Given the description of an element on the screen output the (x, y) to click on. 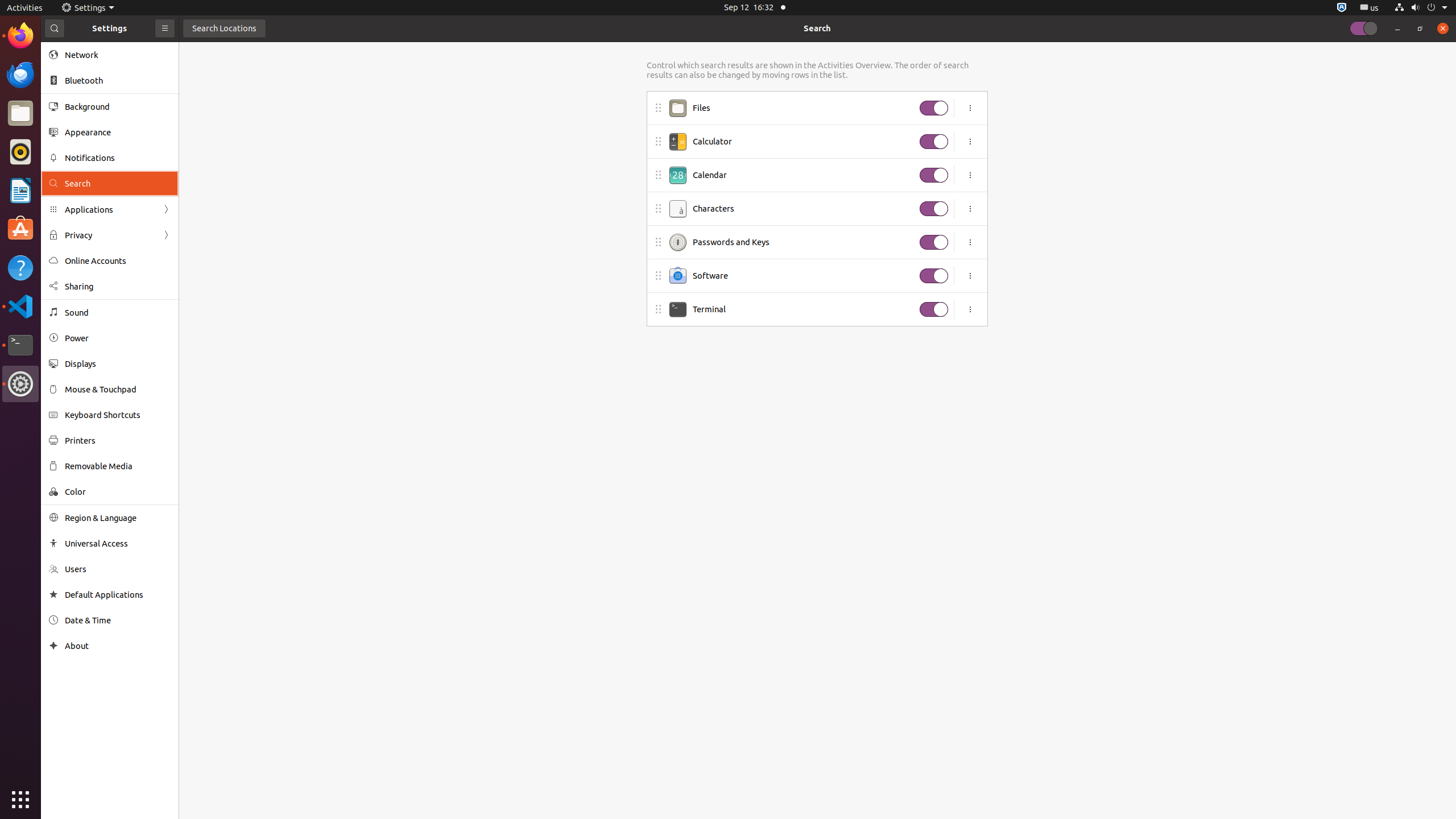
Search Locations Element type: push-button (224, 28)
Passwords and Keys Element type: label (802, 241)
Users Element type: label (117, 568)
Privacy Element type: label (109, 235)
